Given the description of an element on the screen output the (x, y) to click on. 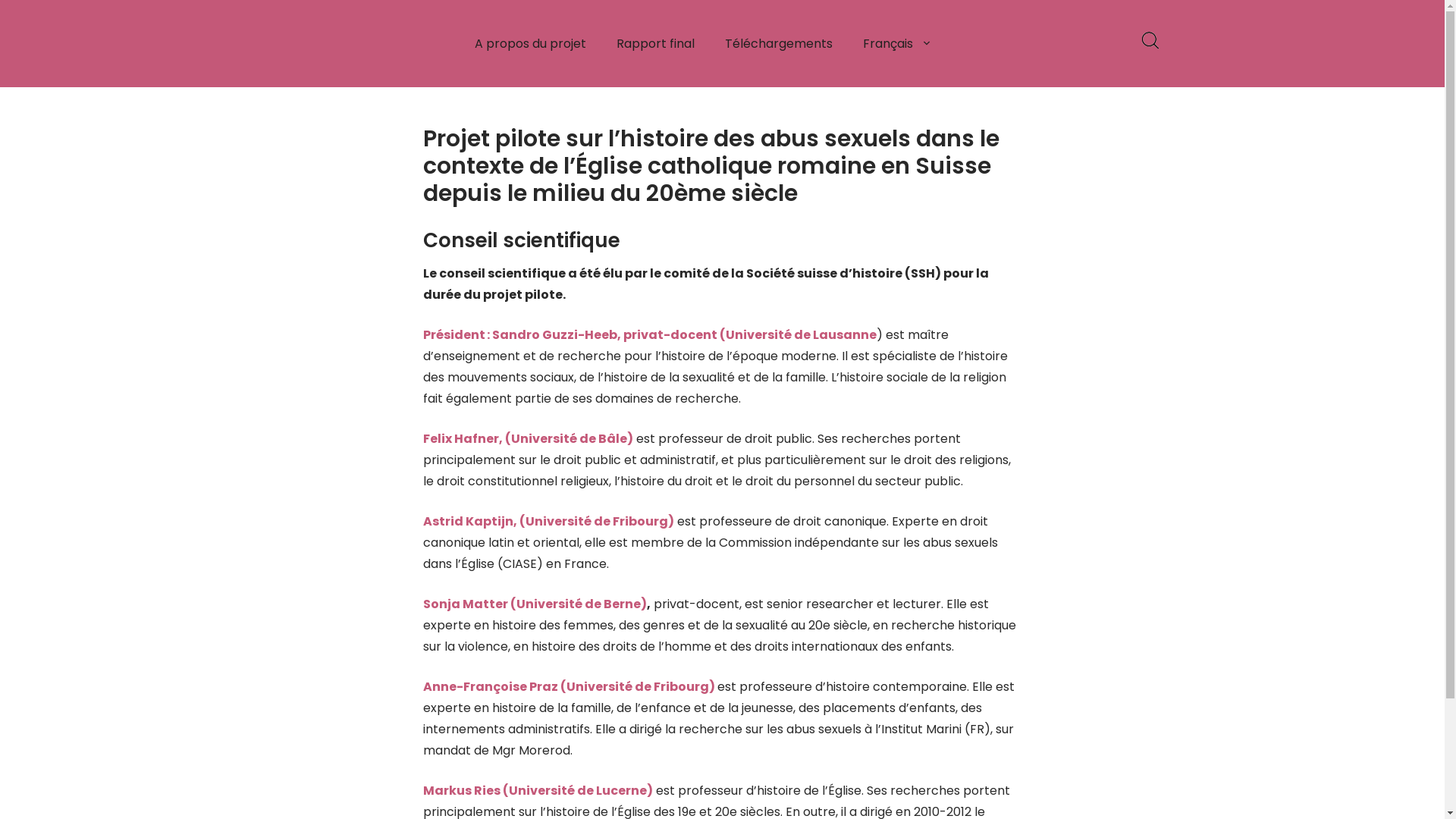
Rapport final Element type: text (654, 43)
A propos du projet Element type: text (530, 43)
